Given the description of an element on the screen output the (x, y) to click on. 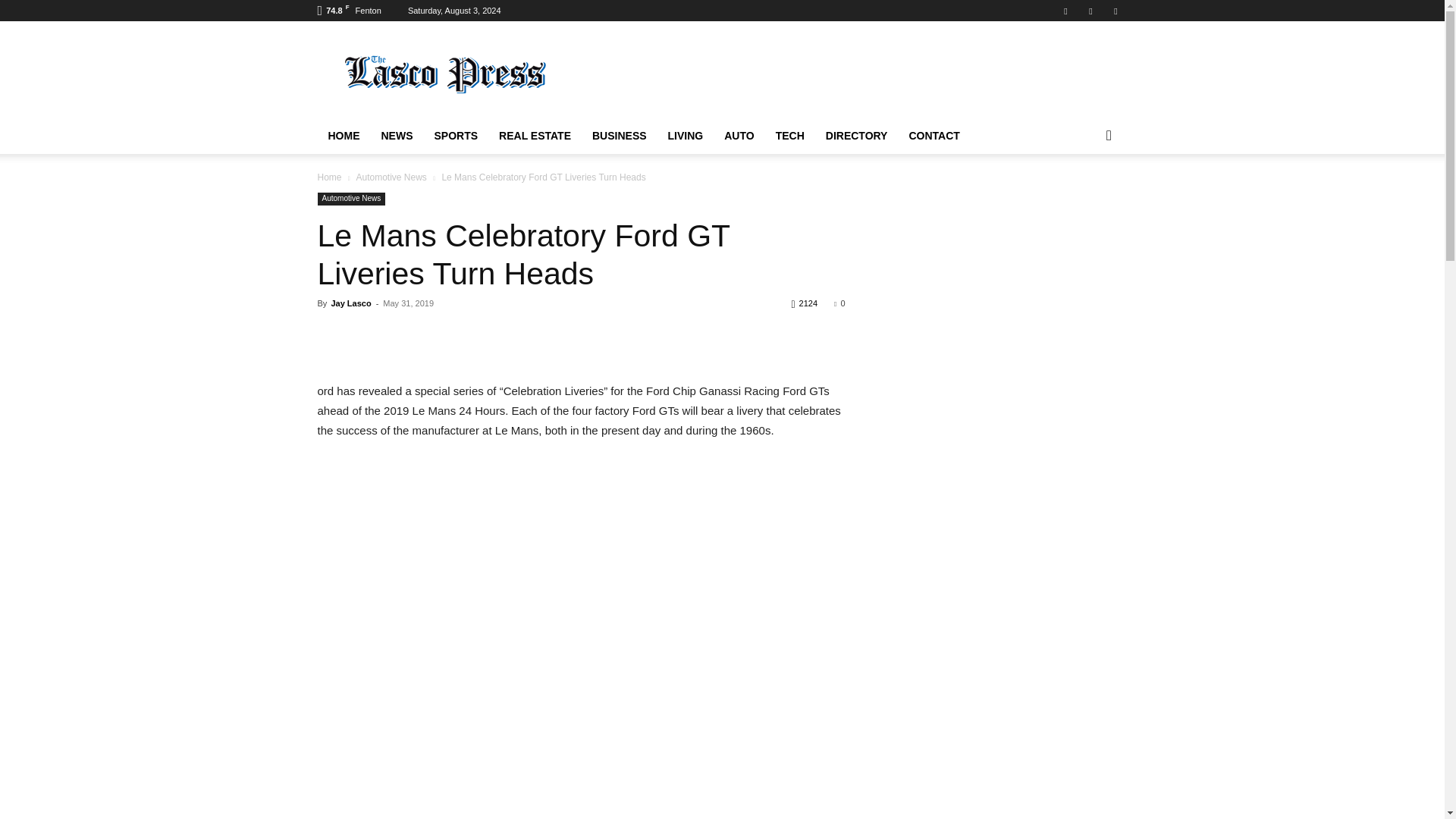
Twitter (1090, 10)
Youtube (1114, 10)
Facebook (1065, 10)
View all posts in Automotive News (390, 176)
